Given the description of an element on the screen output the (x, y) to click on. 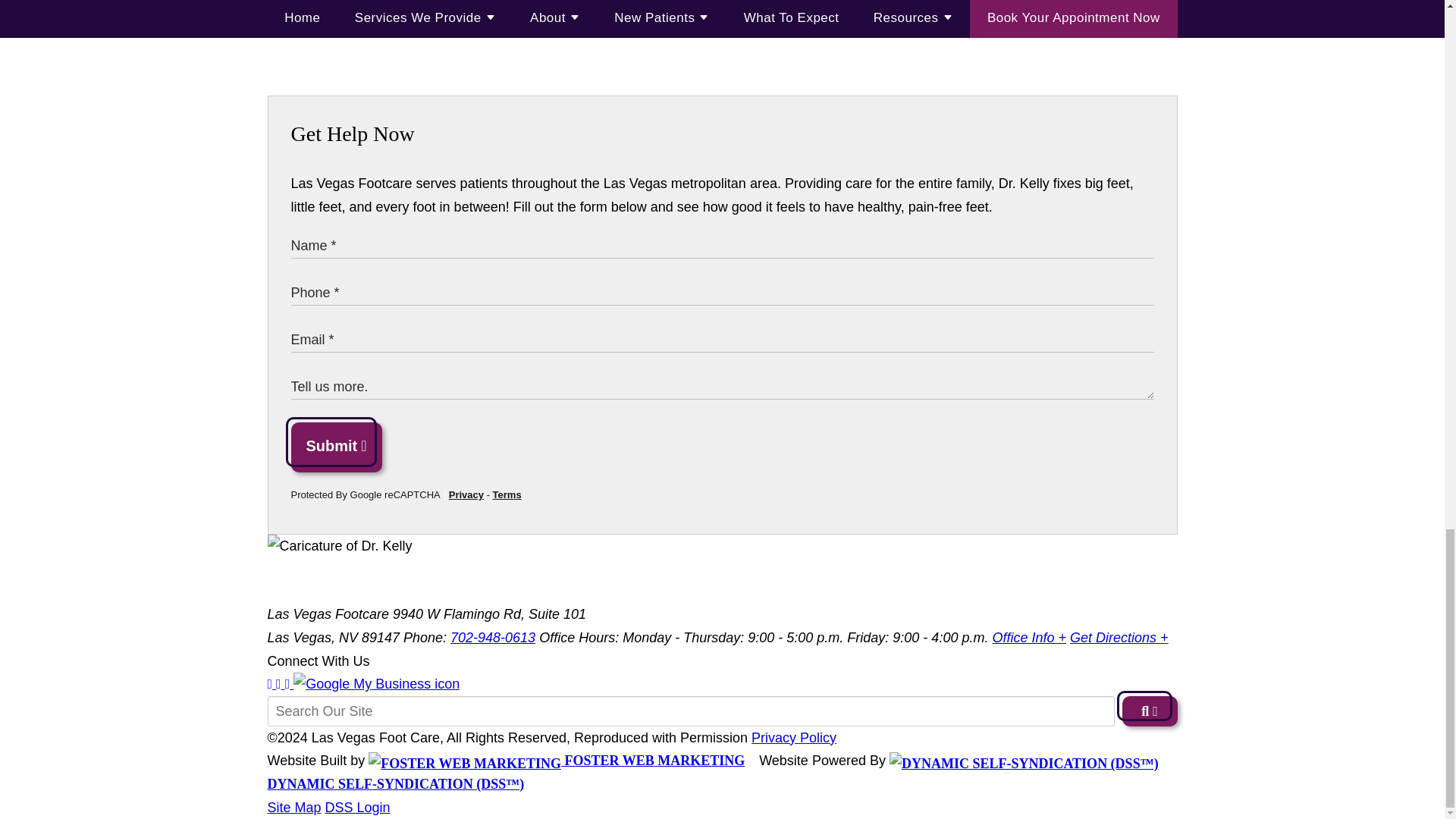
Terms (507, 494)
Submit (336, 447)
Search (1149, 711)
Privacy (465, 494)
